Given the description of an element on the screen output the (x, y) to click on. 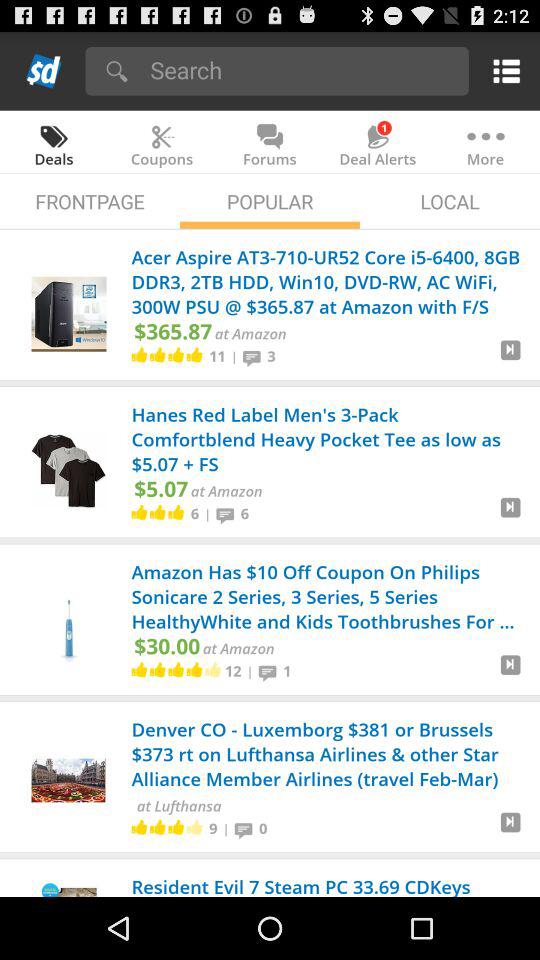
click to next play option (510, 357)
